Given the description of an element on the screen output the (x, y) to click on. 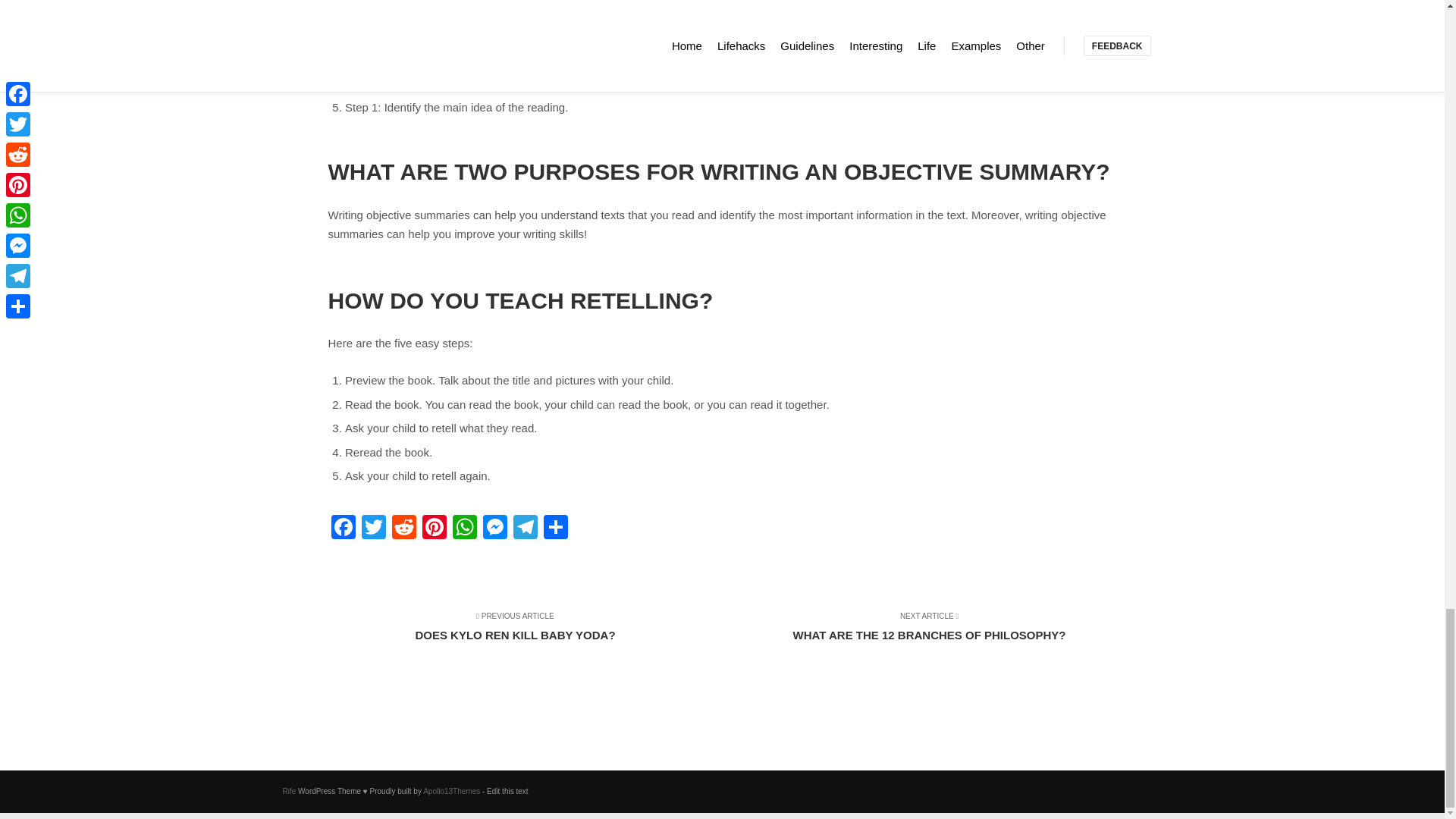
WhatsApp (463, 528)
Reddit (403, 528)
Pinterest (919, 633)
Rife (433, 528)
Messenger (288, 791)
Telegram (494, 528)
Apollo13Themes (524, 633)
Facebook (524, 528)
Twitter (451, 791)
Reddit (342, 528)
Twitter (373, 528)
WhatsApp (403, 528)
Pinterest (373, 528)
